Given the description of an element on the screen output the (x, y) to click on. 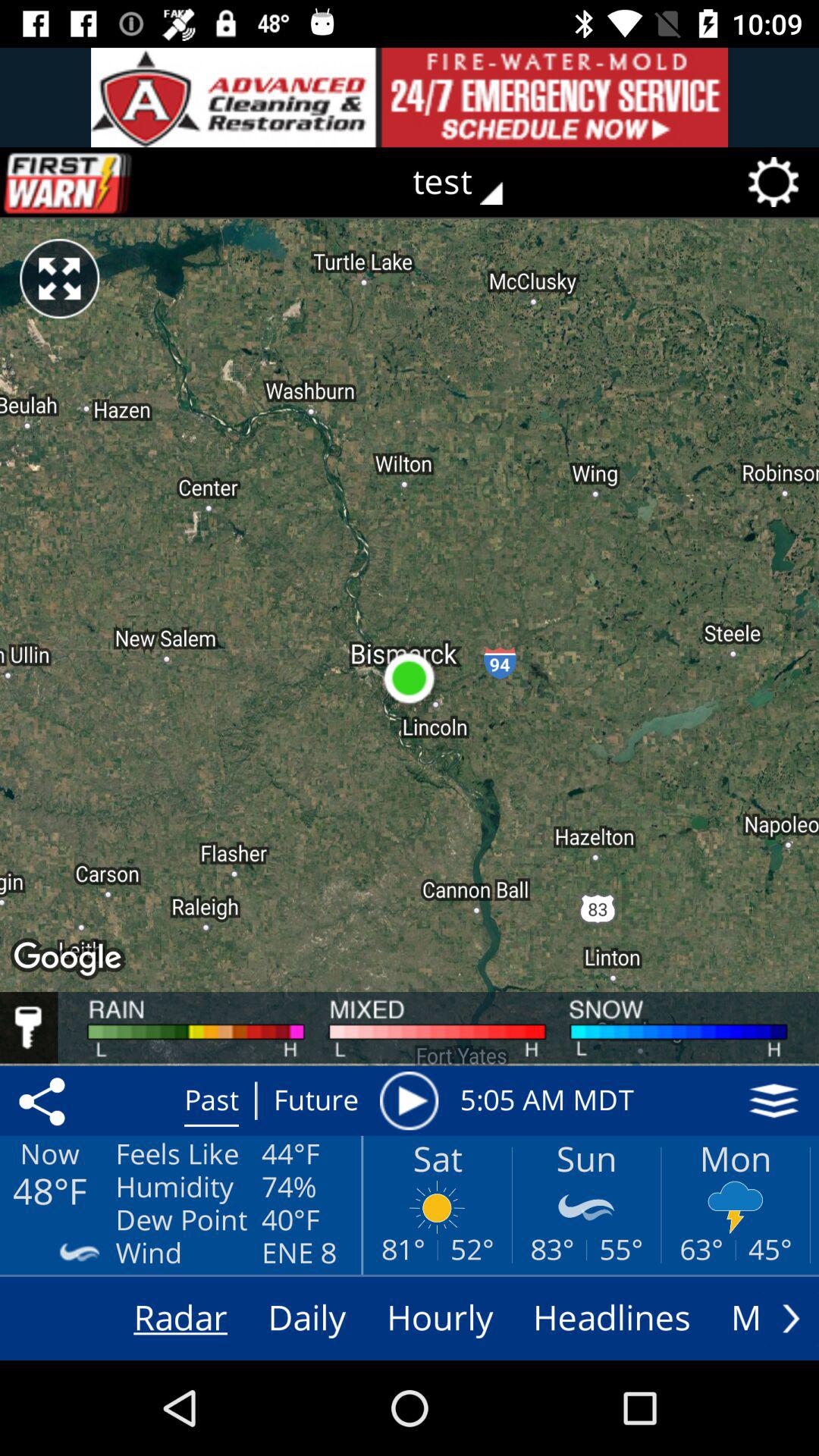
turn off item next to the 5 05 am icon (409, 1100)
